Given the description of an element on the screen output the (x, y) to click on. 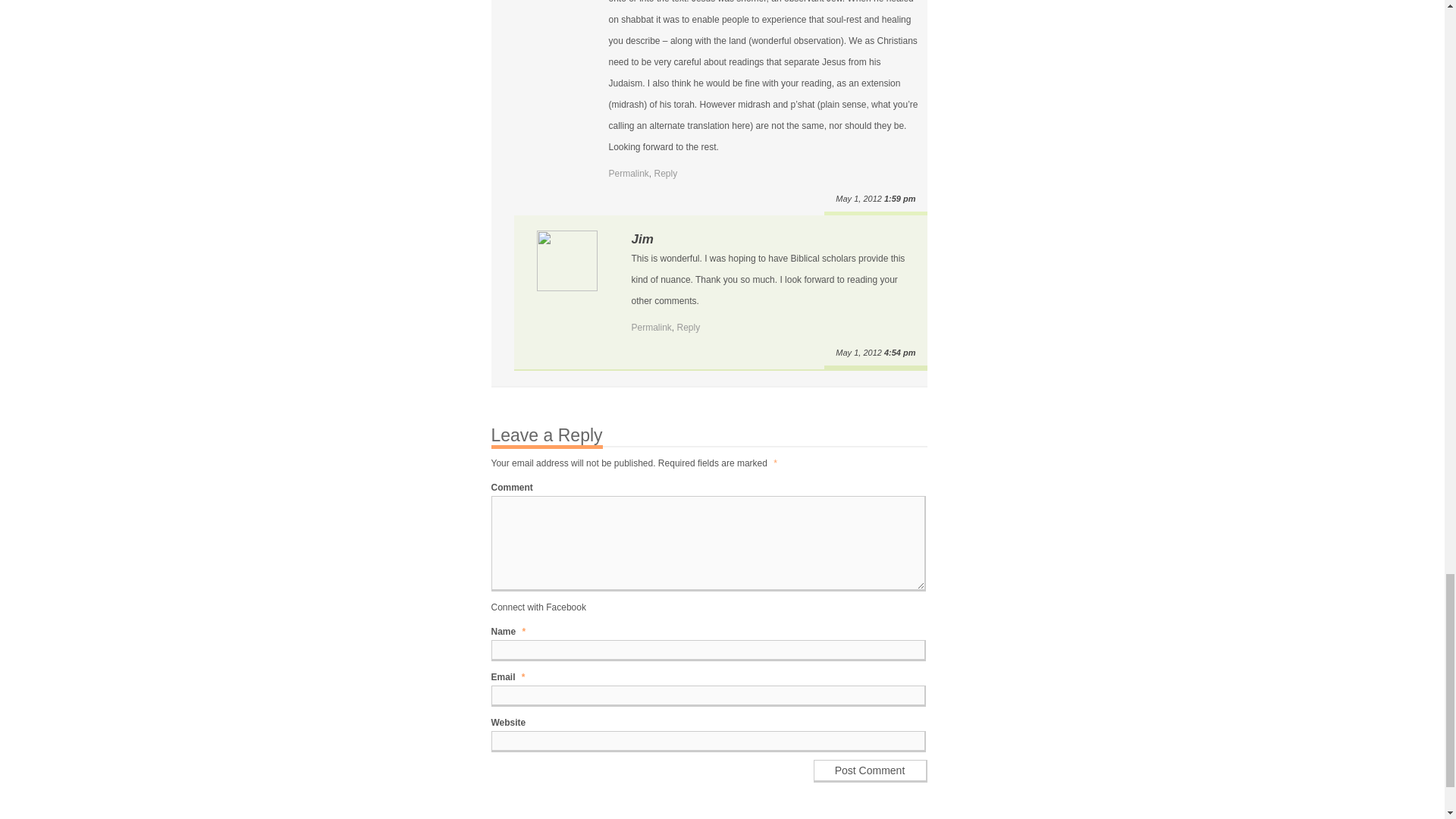
Jim (641, 238)
4:54 pm (899, 352)
Post Comment (869, 771)
1:59 pm (899, 198)
Reply (688, 327)
Post Comment (869, 771)
Reply (665, 173)
Permalink (627, 173)
Permalink (650, 327)
